Given the description of an element on the screen output the (x, y) to click on. 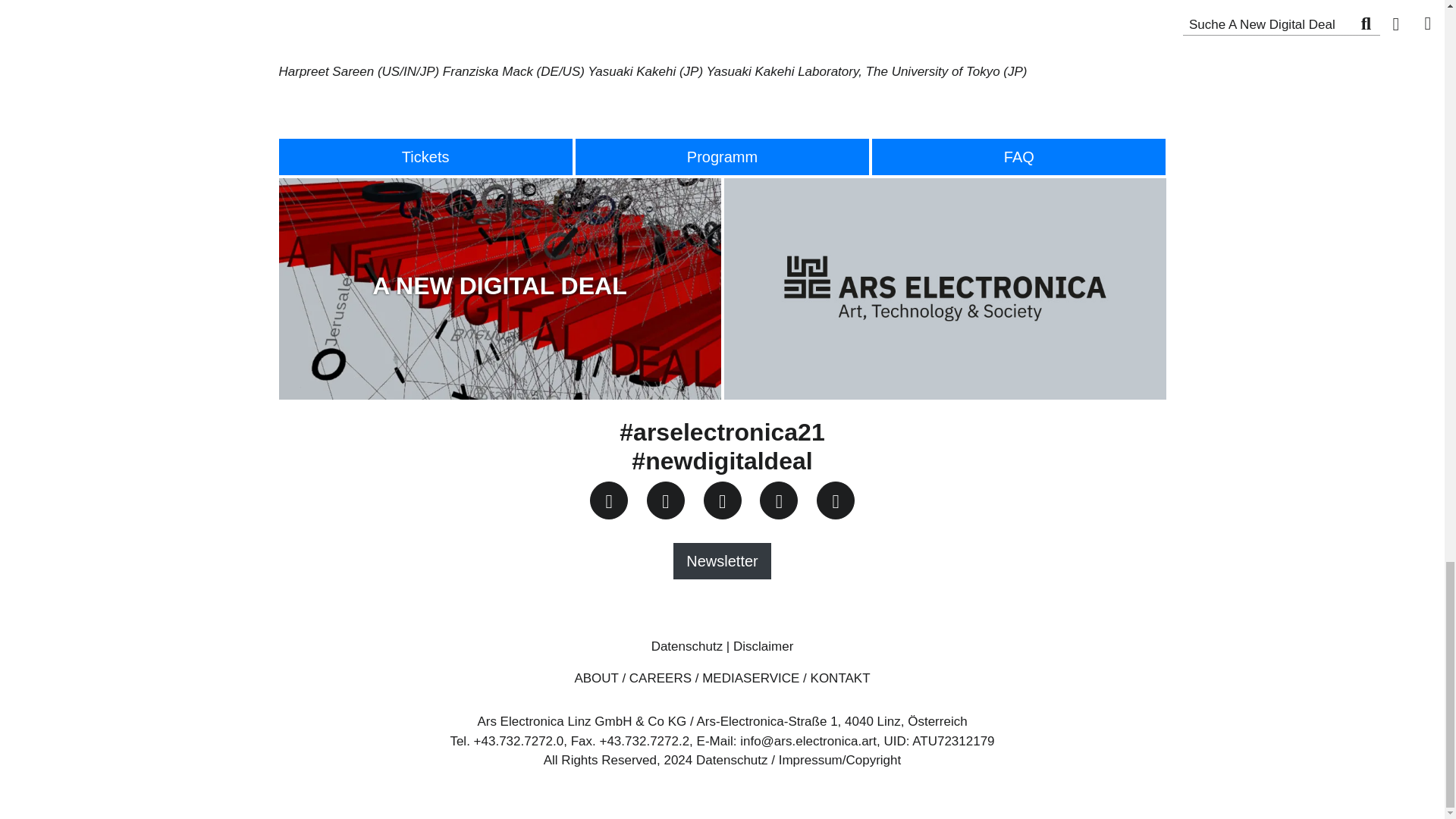
YouTube (778, 500)
Flickr (834, 501)
Instagram (722, 500)
Twitter (665, 500)
Facebook (608, 500)
